Given the description of an element on the screen output the (x, y) to click on. 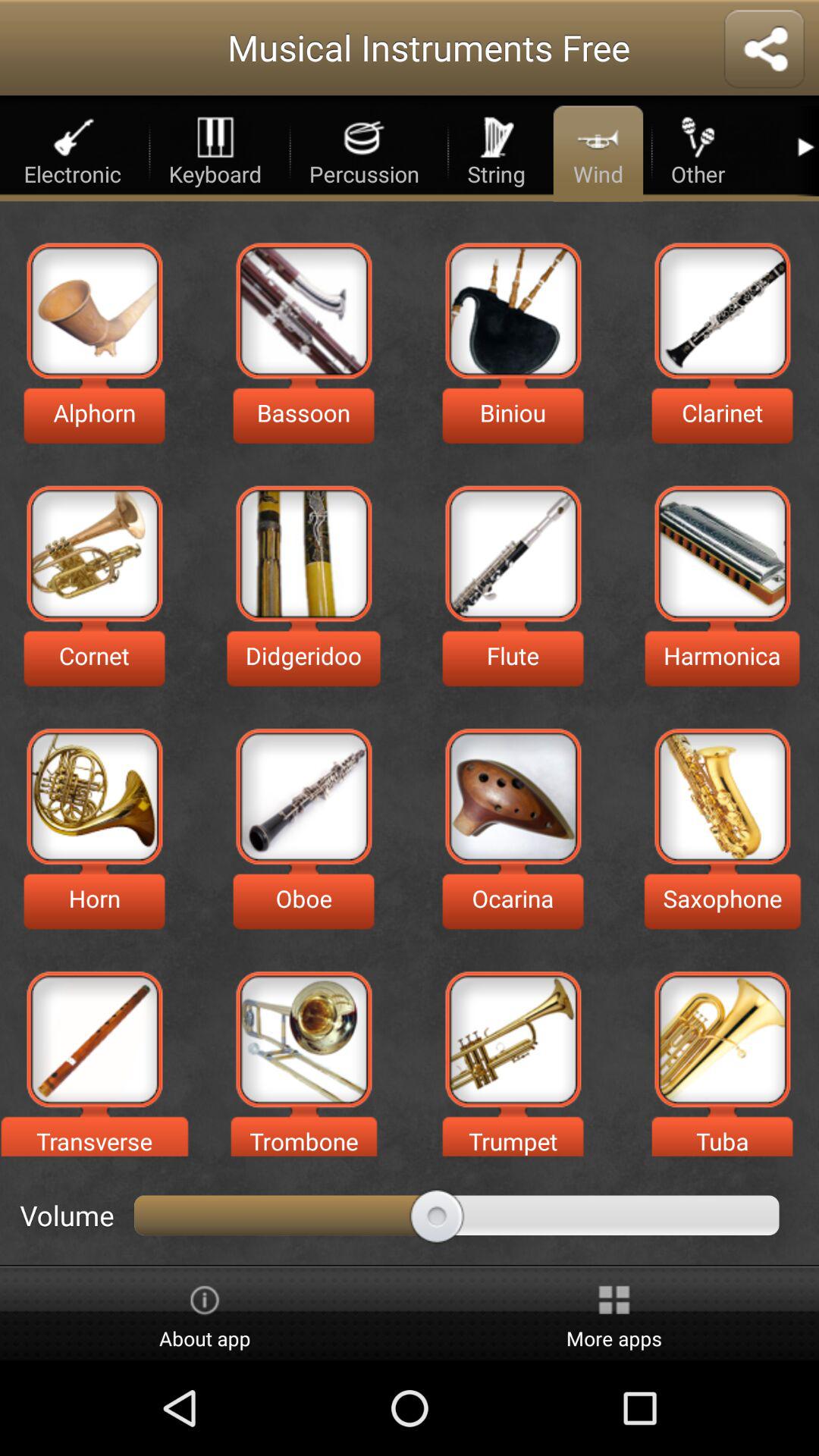
check harmonica details (722, 553)
